Given the description of an element on the screen output the (x, y) to click on. 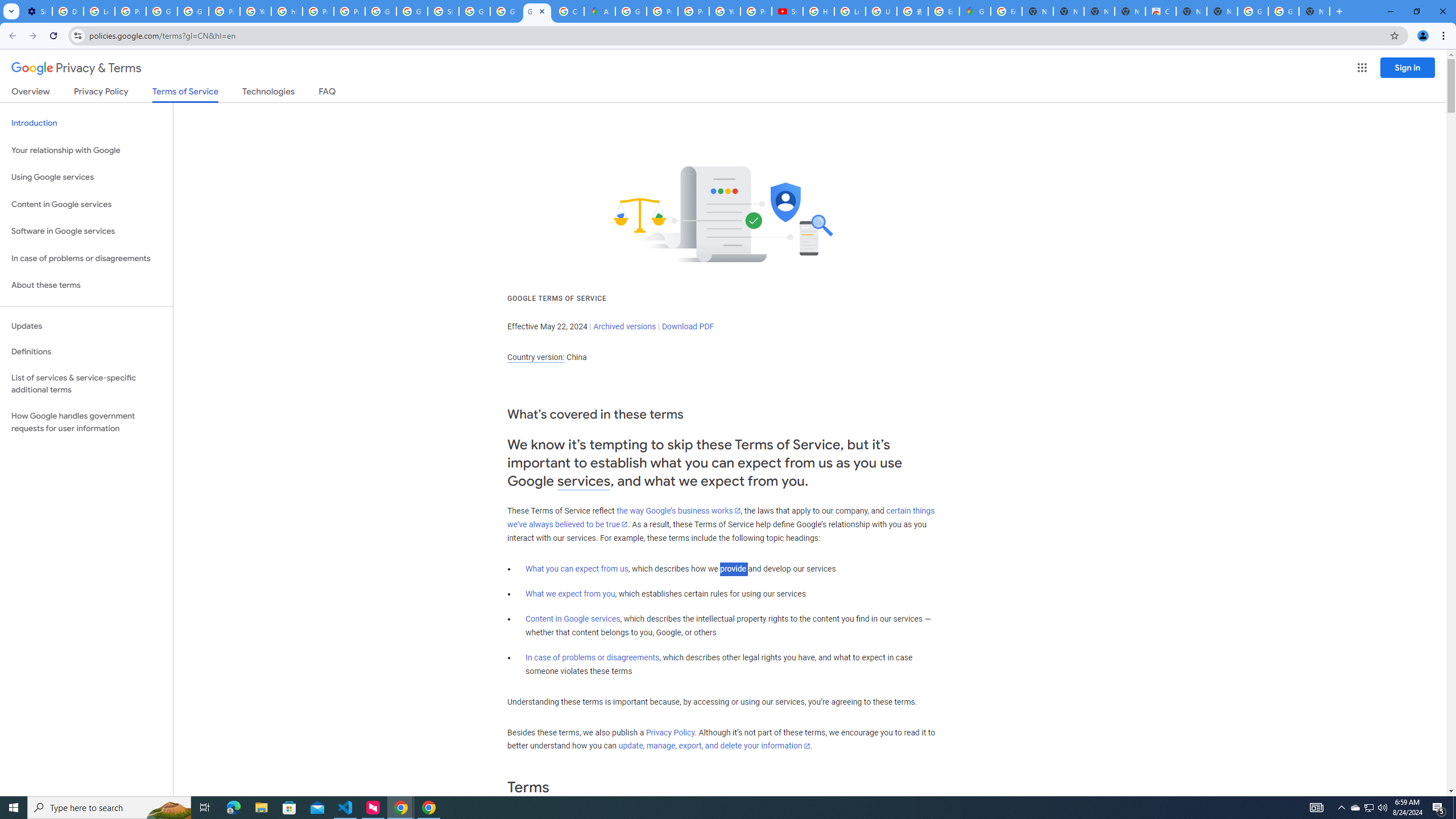
How Google handles government requests for user information (86, 422)
Country version: (535, 357)
Explore new street-level details - Google Maps Help (943, 11)
Settings - On startup (36, 11)
Privacy Help Center - Policies Help (662, 11)
Archived versions (624, 326)
Software in Google services (86, 230)
